Given the description of an element on the screen output the (x, y) to click on. 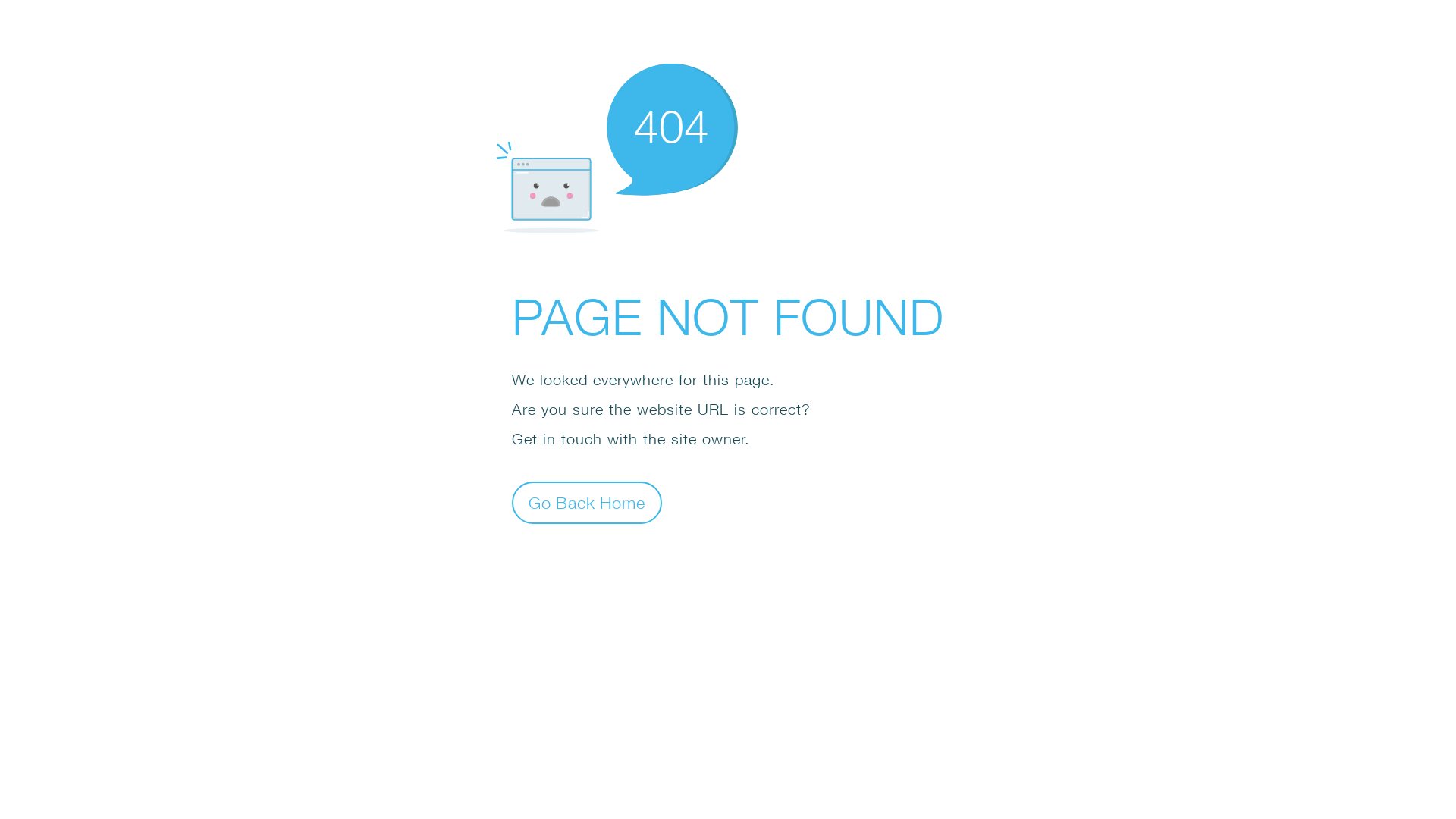
Go Back Home Element type: text (586, 502)
